Given the description of an element on the screen output the (x, y) to click on. 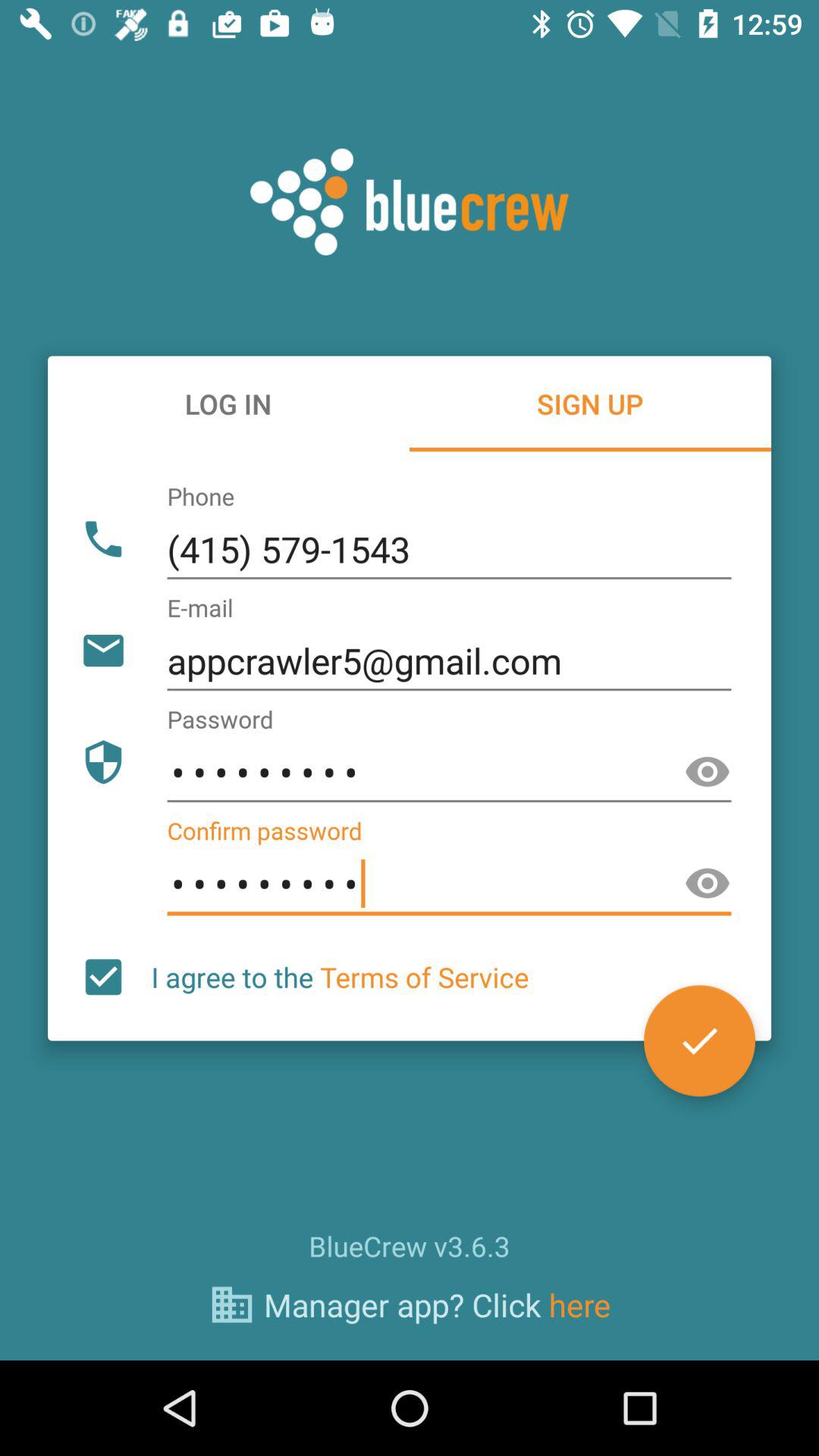
click icon below crowd3116 icon (699, 1040)
